Given the description of an element on the screen output the (x, y) to click on. 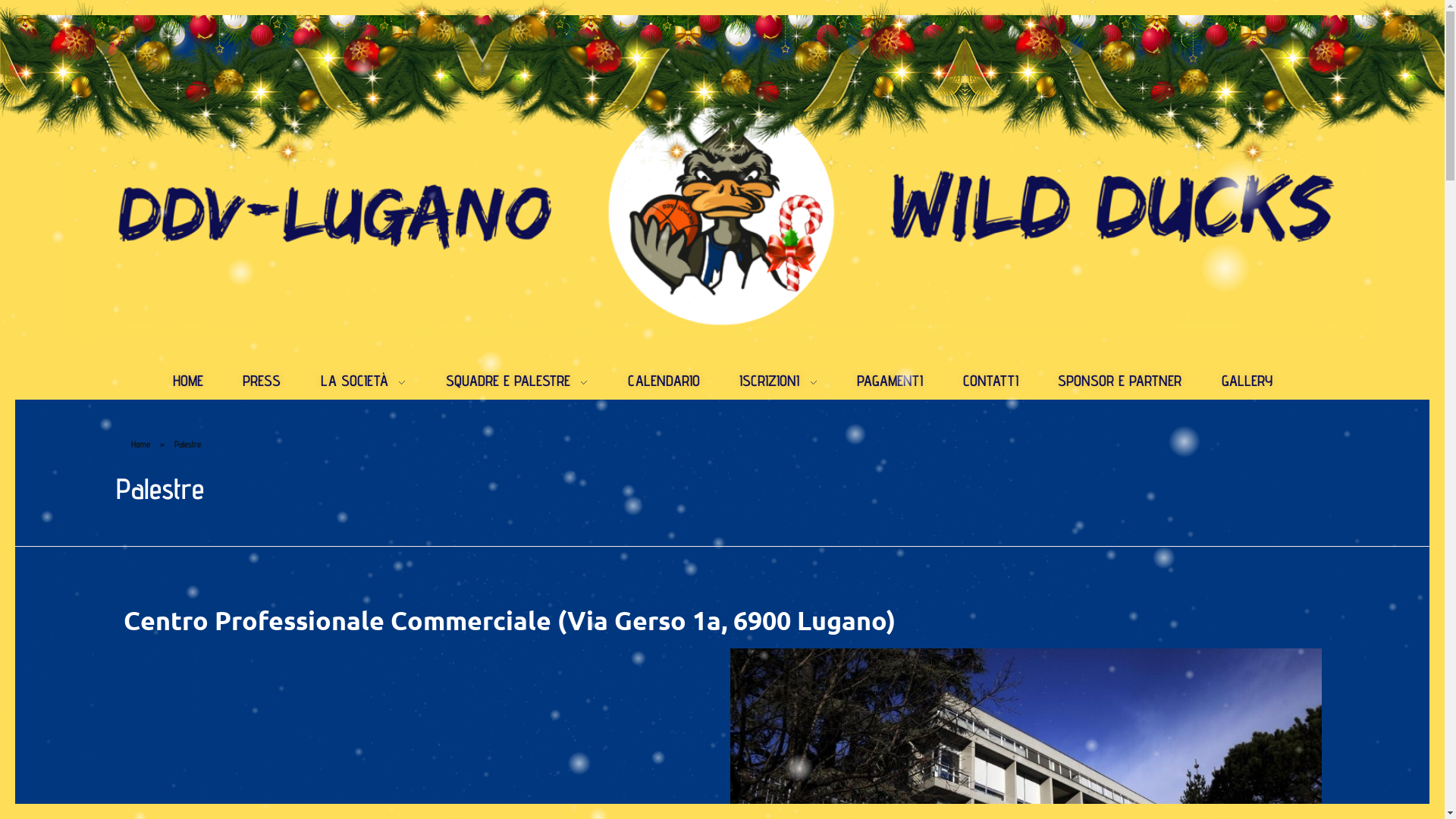
HOME Element type: text (197, 380)
imageedit_7_2086685746 Element type: hover (721, 213)
PRESS Element type: text (261, 380)
Home Element type: text (139, 443)
SPONSOR E PARTNER Element type: text (1119, 380)
CONTATTI Element type: text (990, 380)
PAGAMENTI Element type: text (890, 380)
CALENDARIO Element type: text (663, 380)
GALLERY Element type: text (1236, 380)
